Given the description of an element on the screen output the (x, y) to click on. 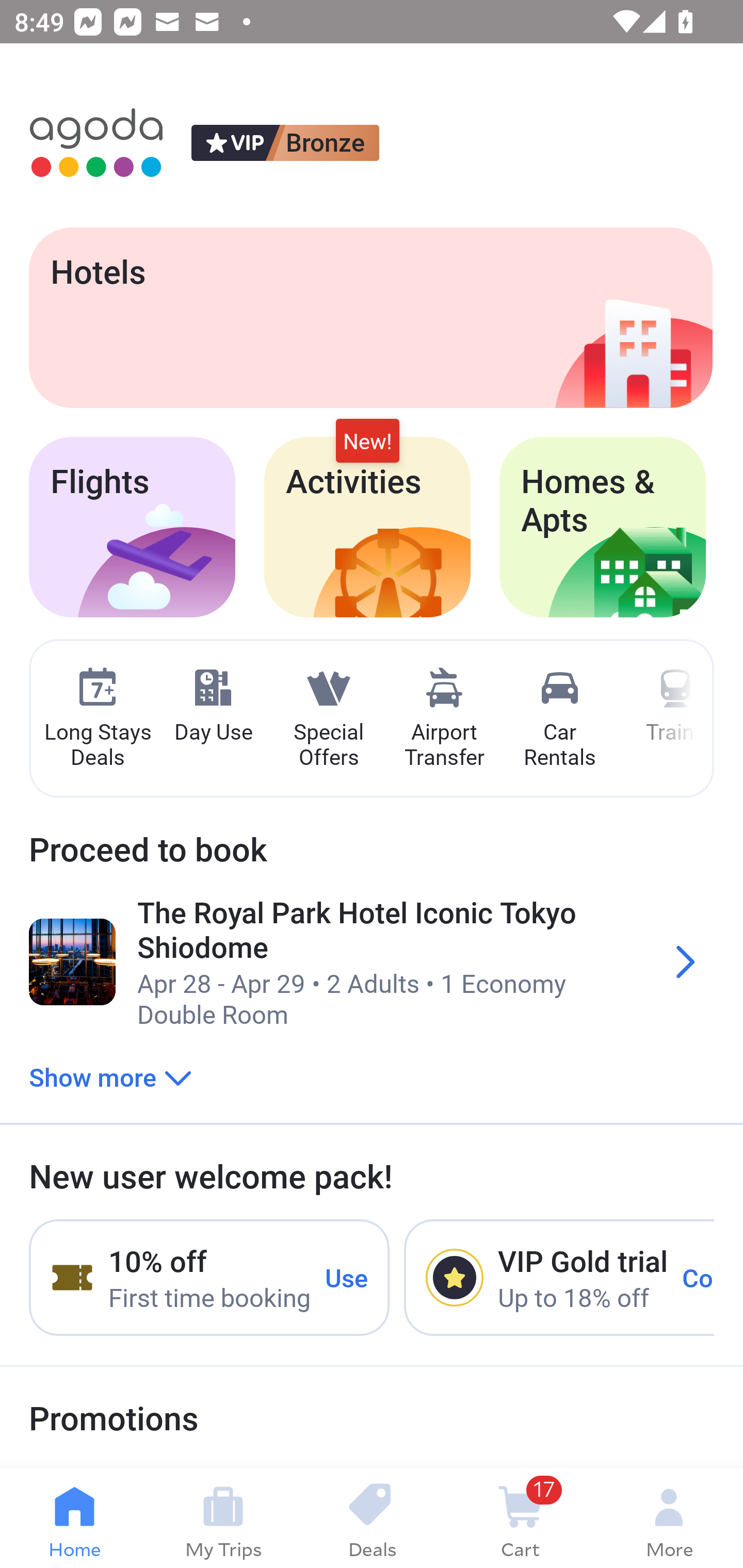
Hotels (370, 317)
New! (367, 441)
Flights (131, 527)
Activities (367, 527)
Homes & Apts (602, 527)
Day Use (213, 706)
Long Stays Deals (97, 718)
Special Offers (328, 718)
Airport Transfer (444, 718)
Car Rentals (559, 718)
Show more (110, 1076)
Use (346, 1277)
Home (74, 1518)
My Trips (222, 1518)
Deals (371, 1518)
17 Cart (519, 1518)
More (668, 1518)
